Given the description of an element on the screen output the (x, y) to click on. 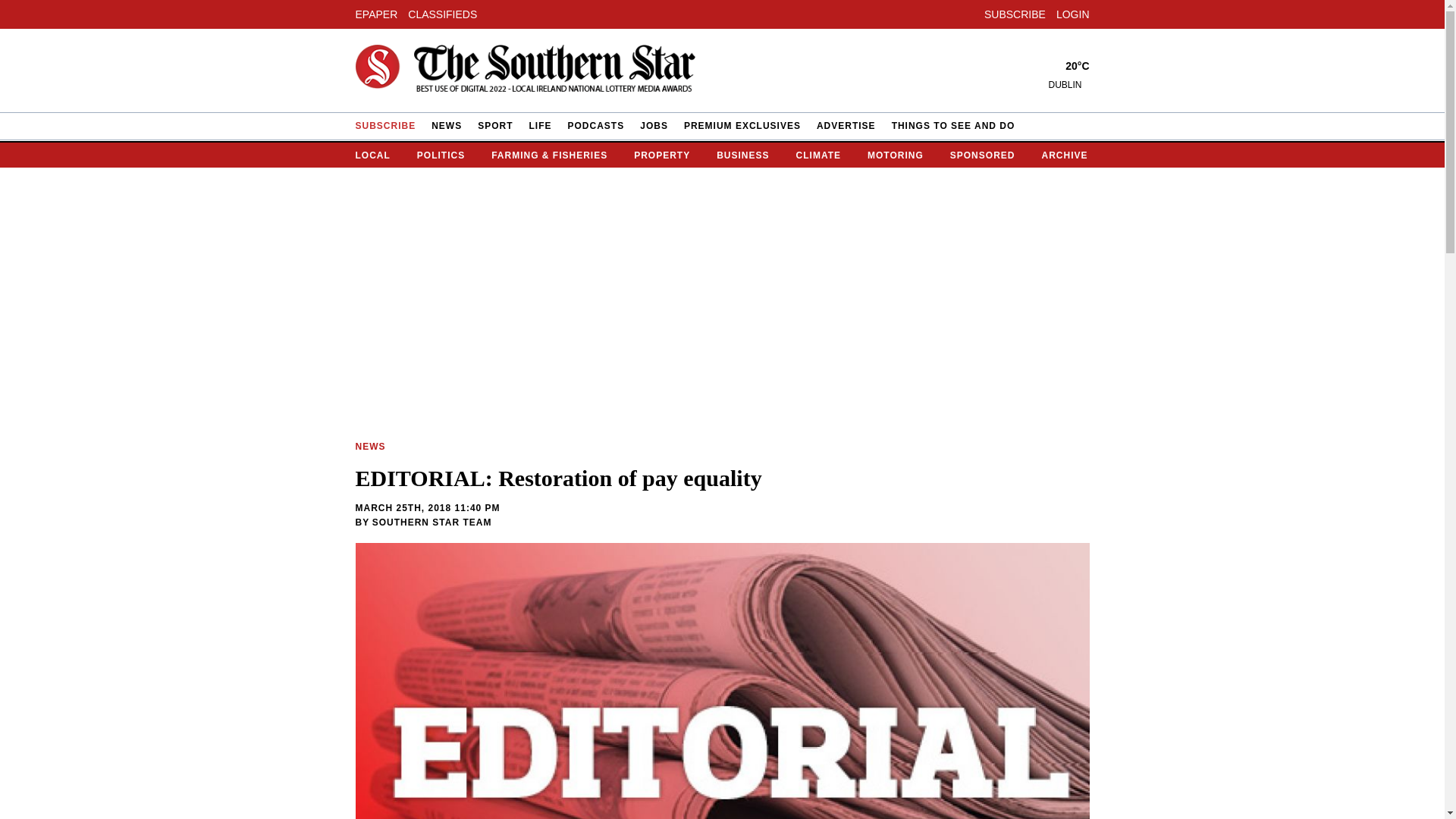
LOGIN (1073, 13)
DUBLIN (1068, 84)
SUBSCRIBE (1014, 13)
Southern Star Ltd. logo (524, 70)
CLASSIFIEDS (442, 13)
EPAPER (376, 13)
